Given the description of an element on the screen output the (x, y) to click on. 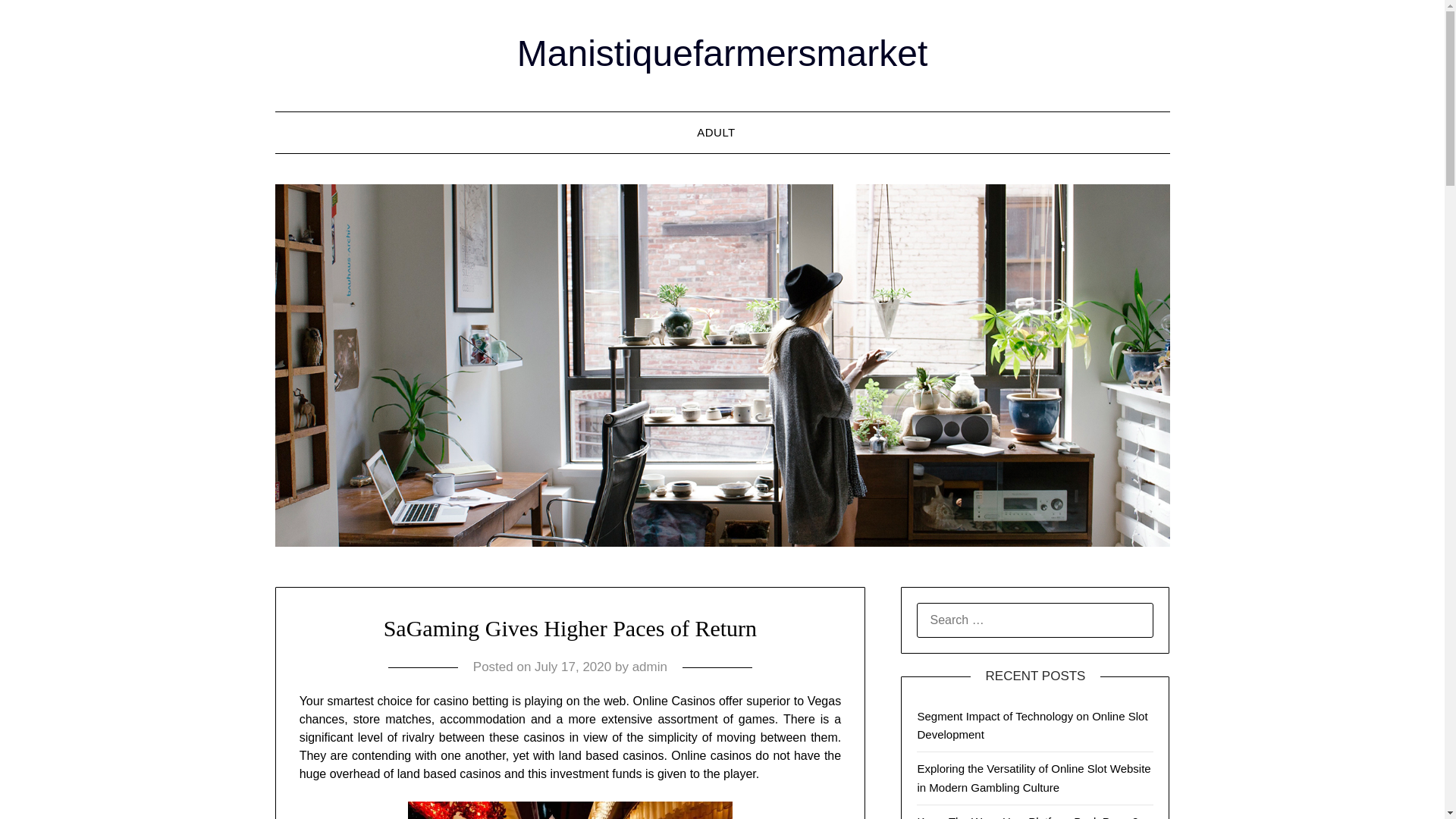
Search (38, 22)
Manistiquefarmersmarket (722, 53)
admin (648, 667)
ADULT (722, 132)
July 17, 2020 (572, 667)
Segment Impact of Technology on Online Slot Development (1032, 725)
